Given the description of an element on the screen output the (x, y) to click on. 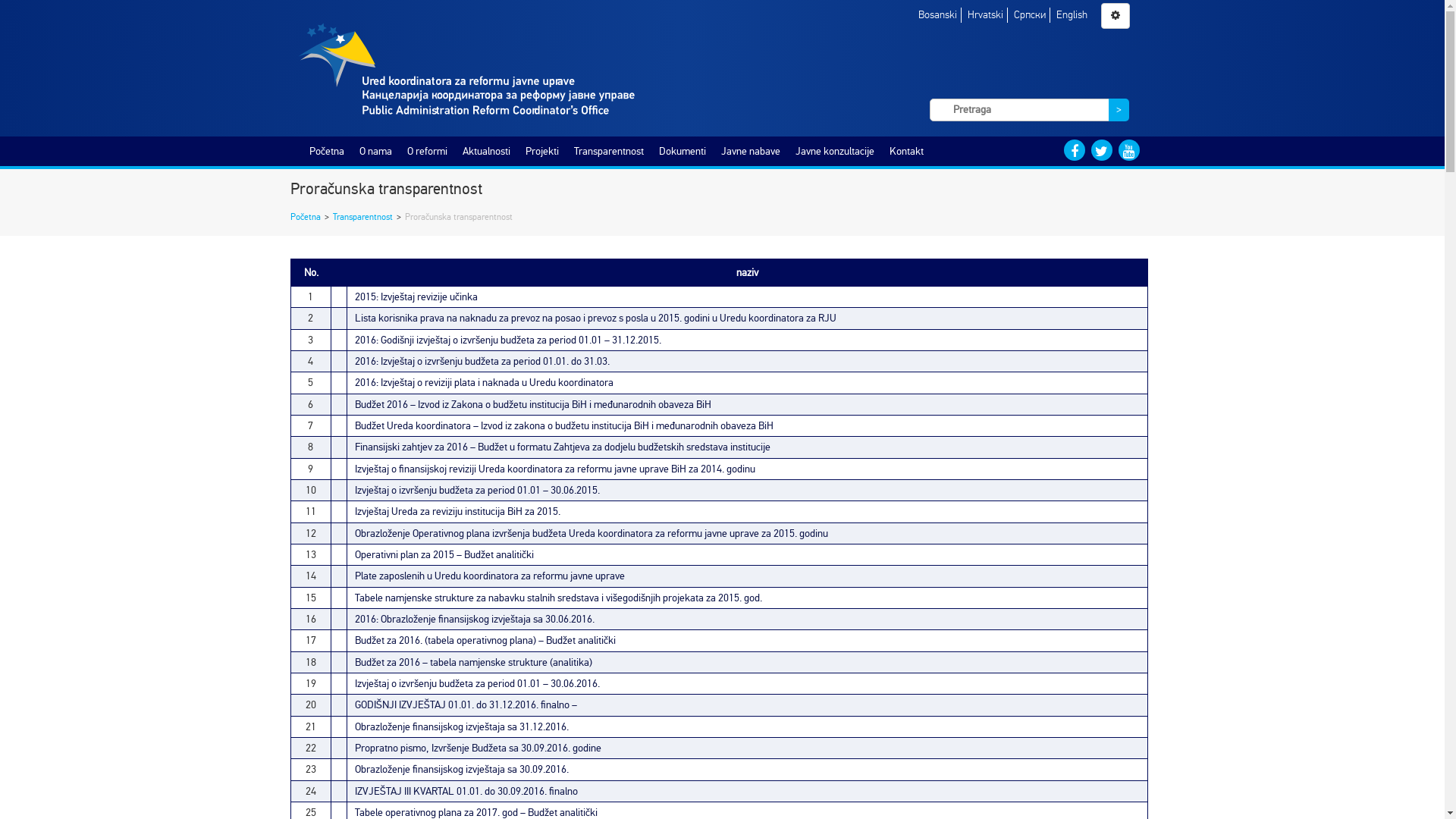
English Element type: text (1070, 14)
Facebook Element type: hover (1073, 149)
Aktualnosti Element type: text (486, 151)
Projekti Element type: text (541, 151)
O nama Element type: text (375, 151)
Youtube Element type: hover (1128, 149)
Javne nabave Element type: text (749, 151)
Dokumenti Element type: text (681, 151)
Hrvatski Element type: text (985, 14)
Transparentnost Element type: text (362, 216)
Transparentnost Element type: text (608, 151)
> Element type: text (1118, 109)
O reformi Element type: text (426, 151)
Javne konzultacije Element type: text (833, 151)
Bosanski Element type: text (936, 14)
Twitter Element type: hover (1100, 149)
Kontakt Element type: text (905, 151)
